Given the description of an element on the screen output the (x, y) to click on. 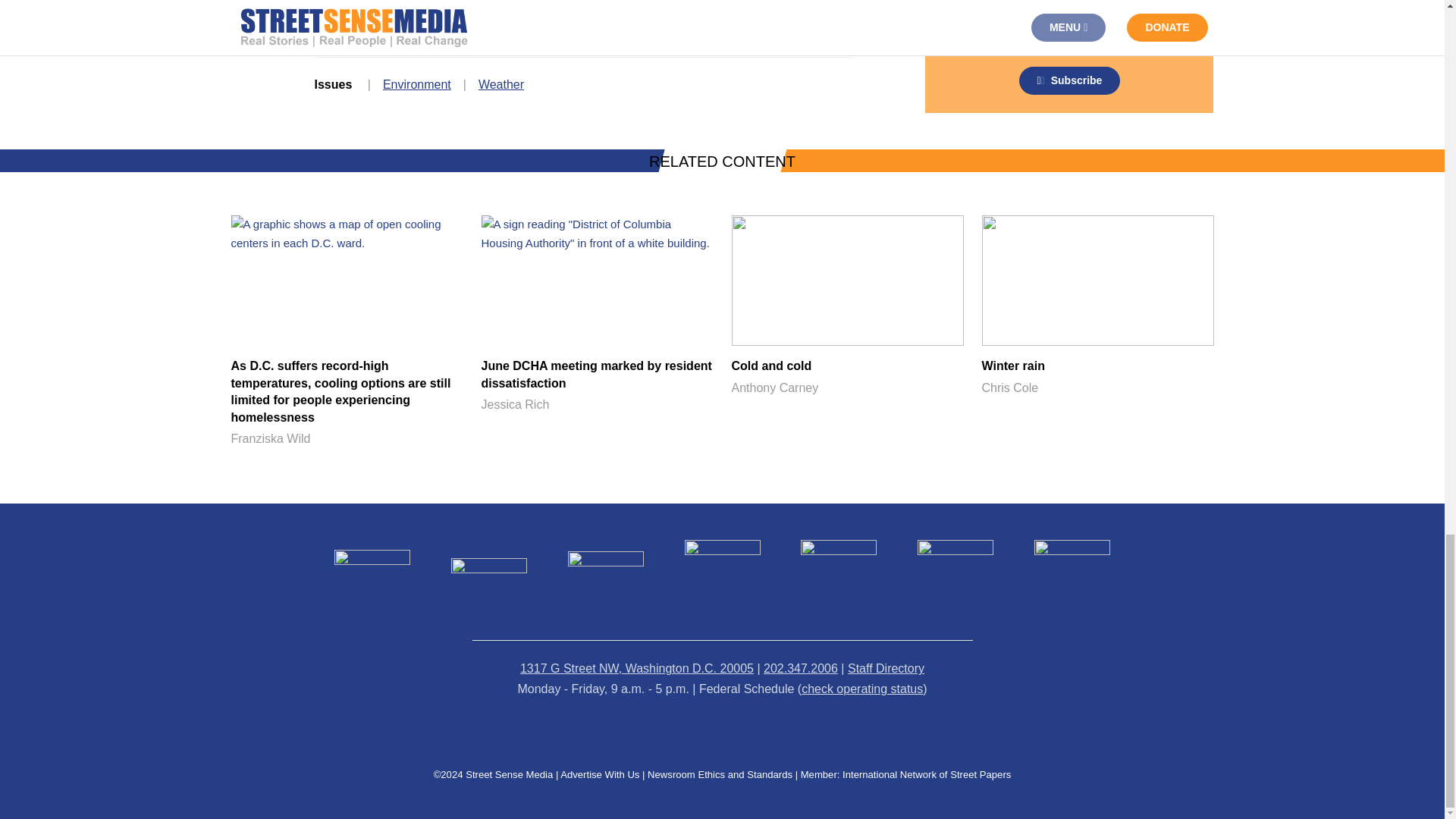
1317 G Street NW, Washington D.C. 20005 (846, 306)
Weather (636, 667)
Environment (501, 83)
202.347.2006 (1096, 306)
check operating status (416, 83)
Staff Directory (800, 667)
